Given the description of an element on the screen output the (x, y) to click on. 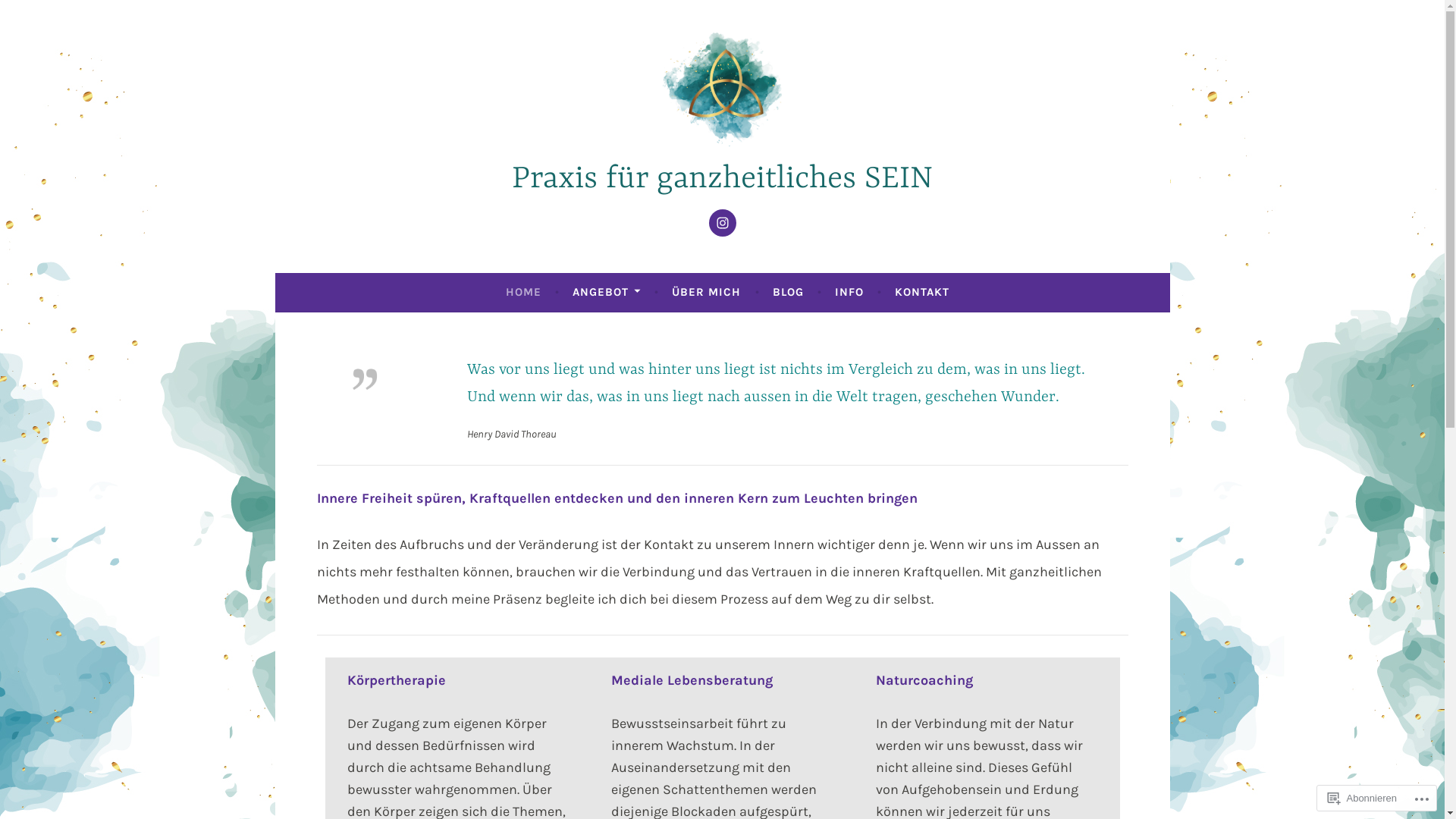
INFO Element type: text (848, 291)
HOME Element type: text (523, 291)
Abonnieren Element type: text (1361, 797)
BLOG Element type: text (787, 291)
KONTAKT Element type: text (921, 291)
ANGEBOT Element type: text (606, 291)
